Given the description of an element on the screen output the (x, y) to click on. 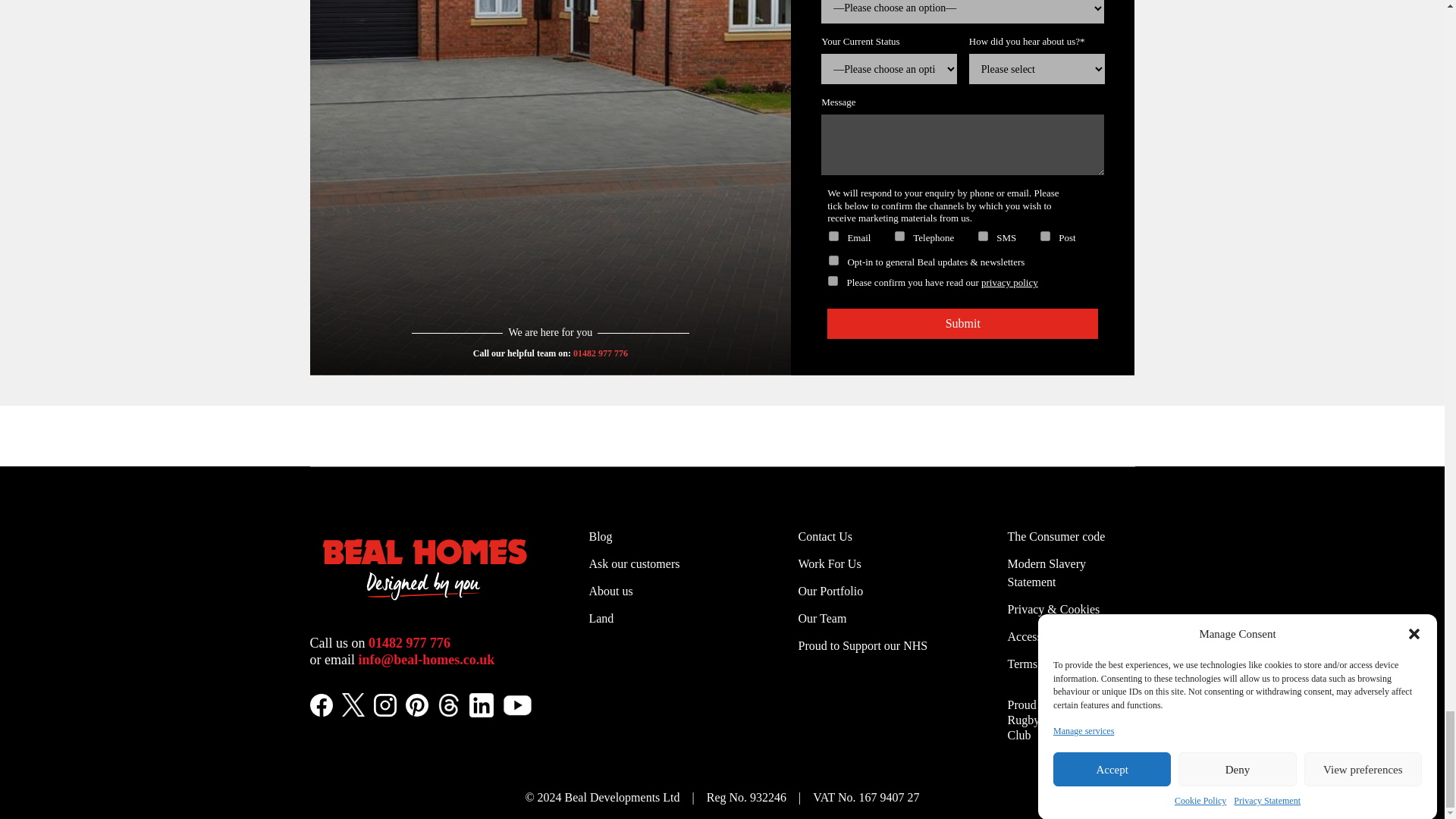
Submit (962, 323)
SMS (983, 235)
Telephone (899, 235)
Post (1045, 235)
1 (833, 280)
Email (833, 235)
